Given the description of an element on the screen output the (x, y) to click on. 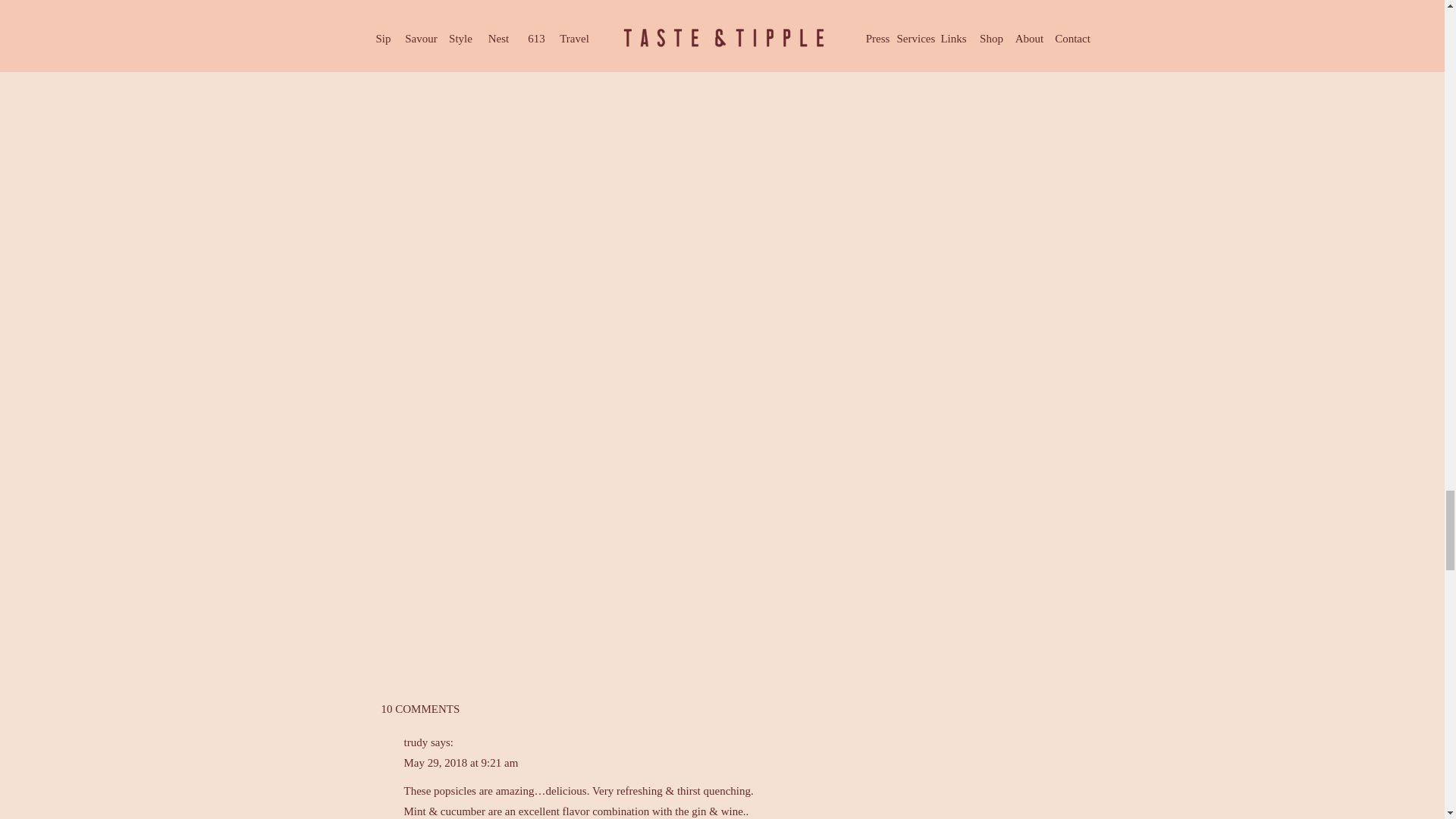
May 29, 2018 at 9:21 am (460, 762)
